Given the description of an element on the screen output the (x, y) to click on. 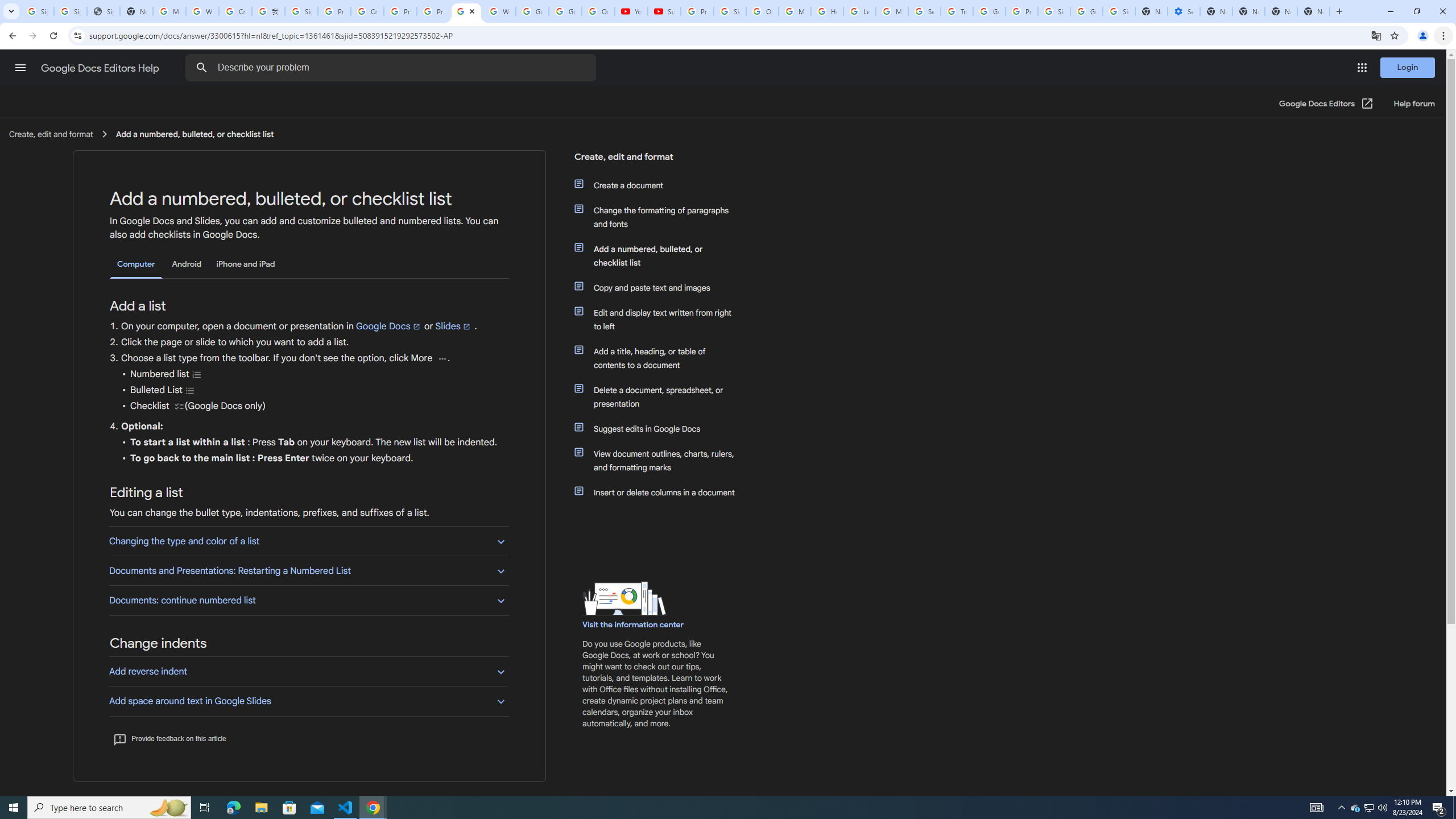
Add reverse indent (308, 671)
Documents and Presentations: Restarting a Numbered List (308, 570)
Provide feedback on this article (169, 738)
Google Cybersecurity Innovations - Google Safety Center (1086, 11)
Google Docs Editors (Opens in new window) (1326, 103)
Numbered list (197, 374)
Trusted Information and Content - Google Safety Center (957, 11)
